Given the description of an element on the screen output the (x, y) to click on. 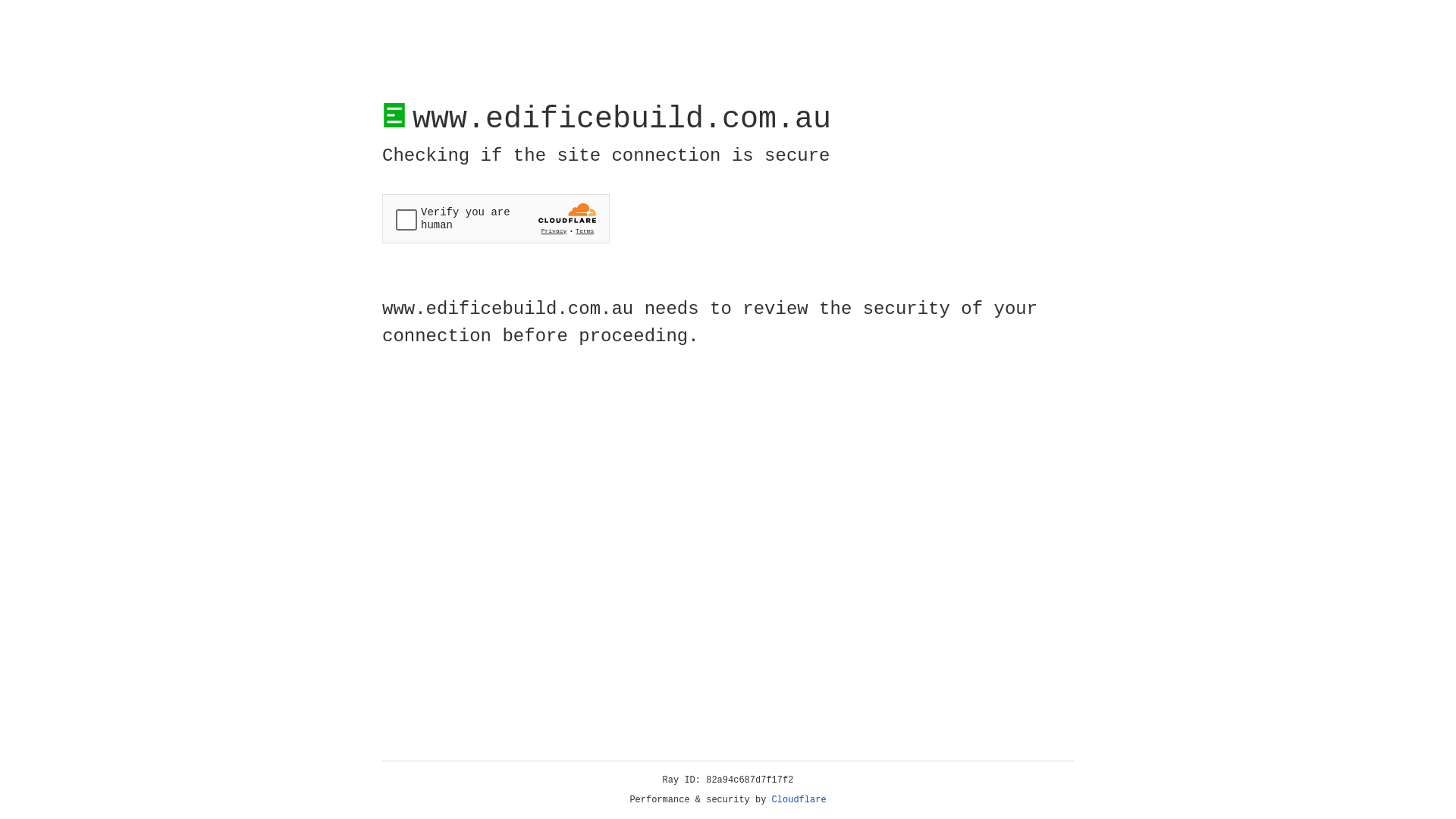
Widget containing a Cloudflare security challenge Element type: hover (495, 218)
Cloudflare Element type: text (798, 799)
